Given the description of an element on the screen output the (x, y) to click on. 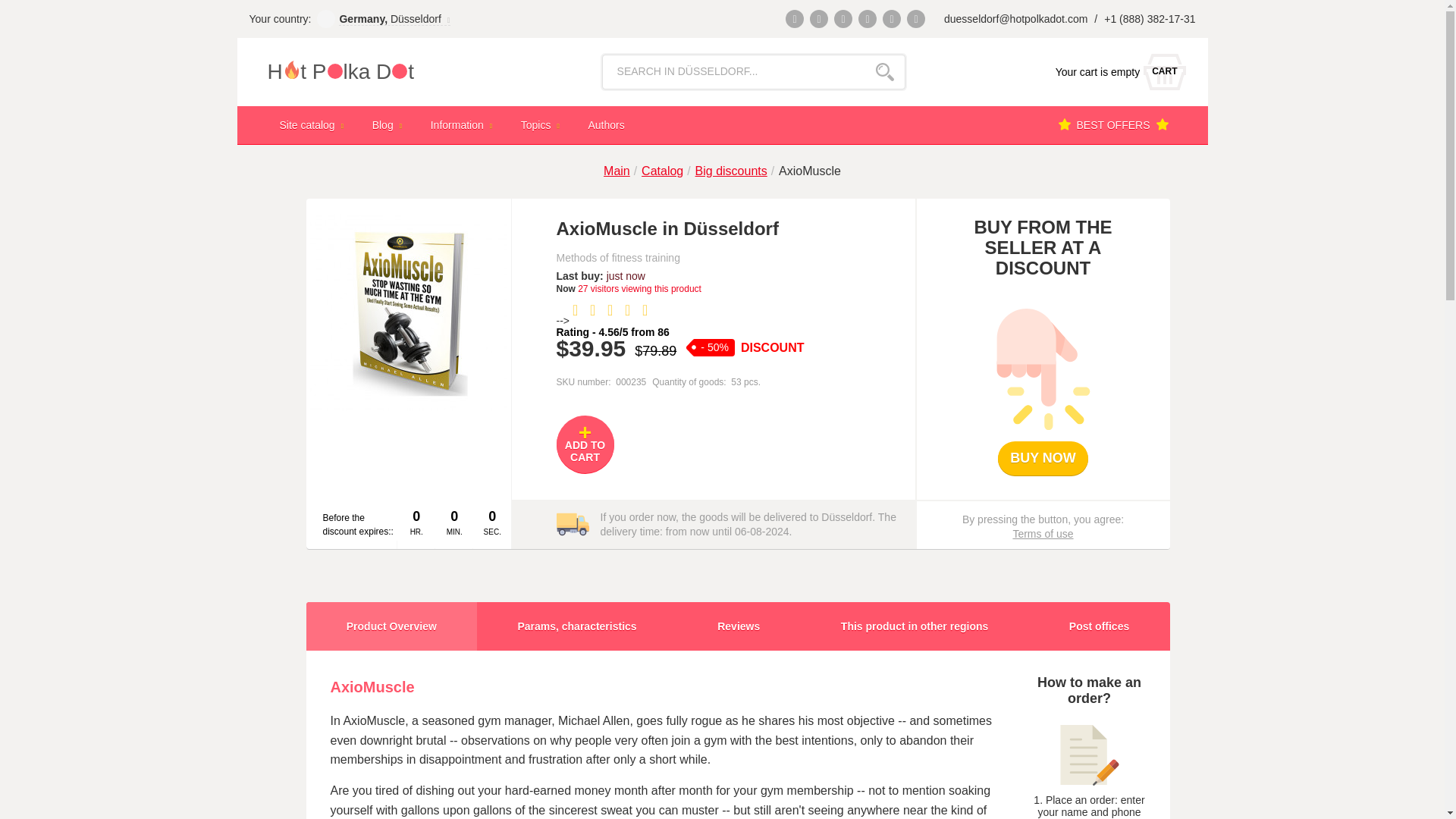
Blog (389, 124)
Site catalog (312, 124)
H t Plka Dt (1116, 72)
